Given the description of an element on the screen output the (x, y) to click on. 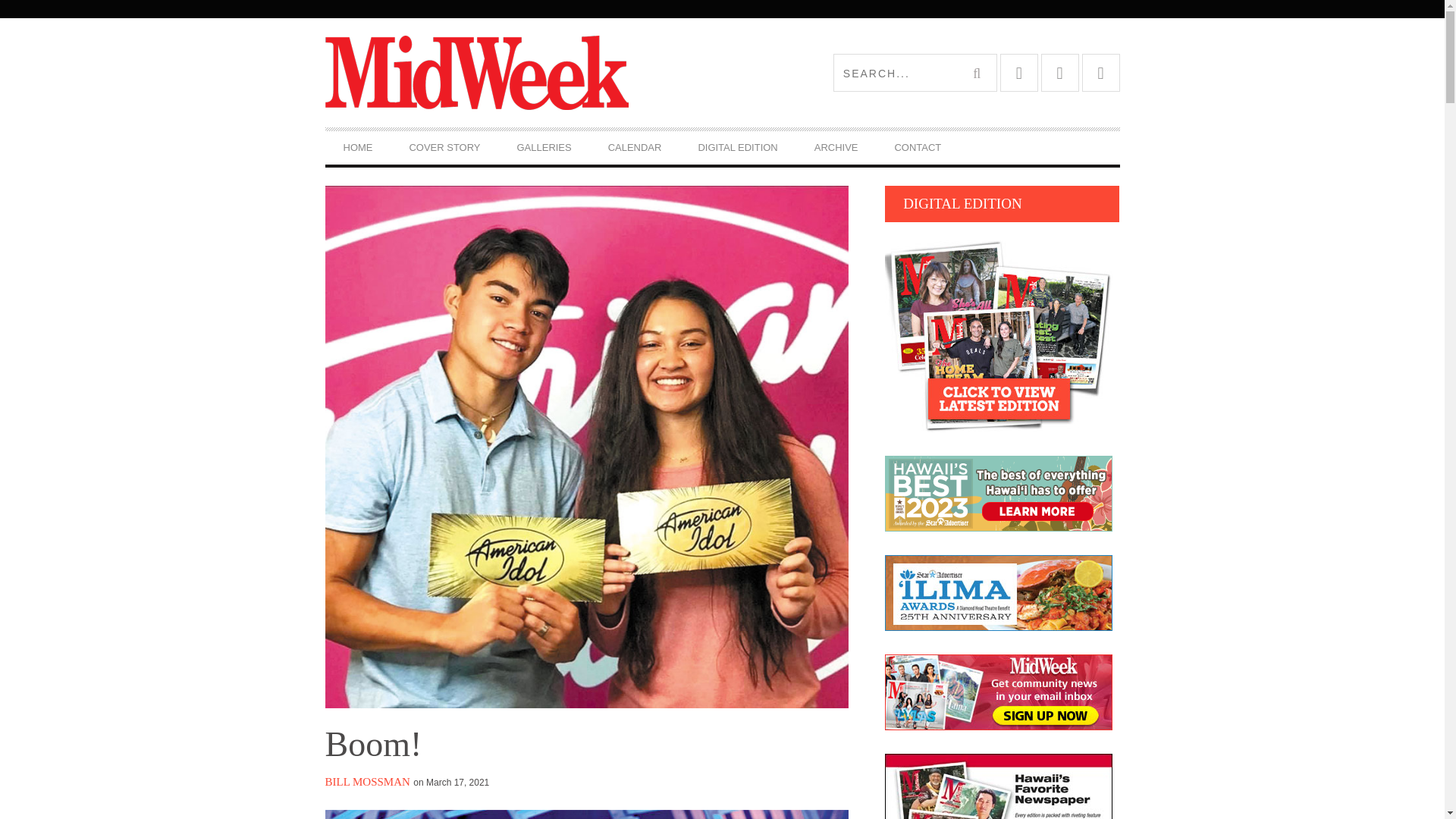
CONTACT (917, 147)
MidWeek (523, 72)
BILL MOSSMAN (366, 781)
DIGITAL EDITION (736, 147)
HOME (357, 147)
GALLERIES (544, 147)
ARCHIVE (836, 147)
COVER STORY (443, 147)
CALENDAR (634, 147)
Posts by Bill Mossman (366, 781)
